Given the description of an element on the screen output the (x, y) to click on. 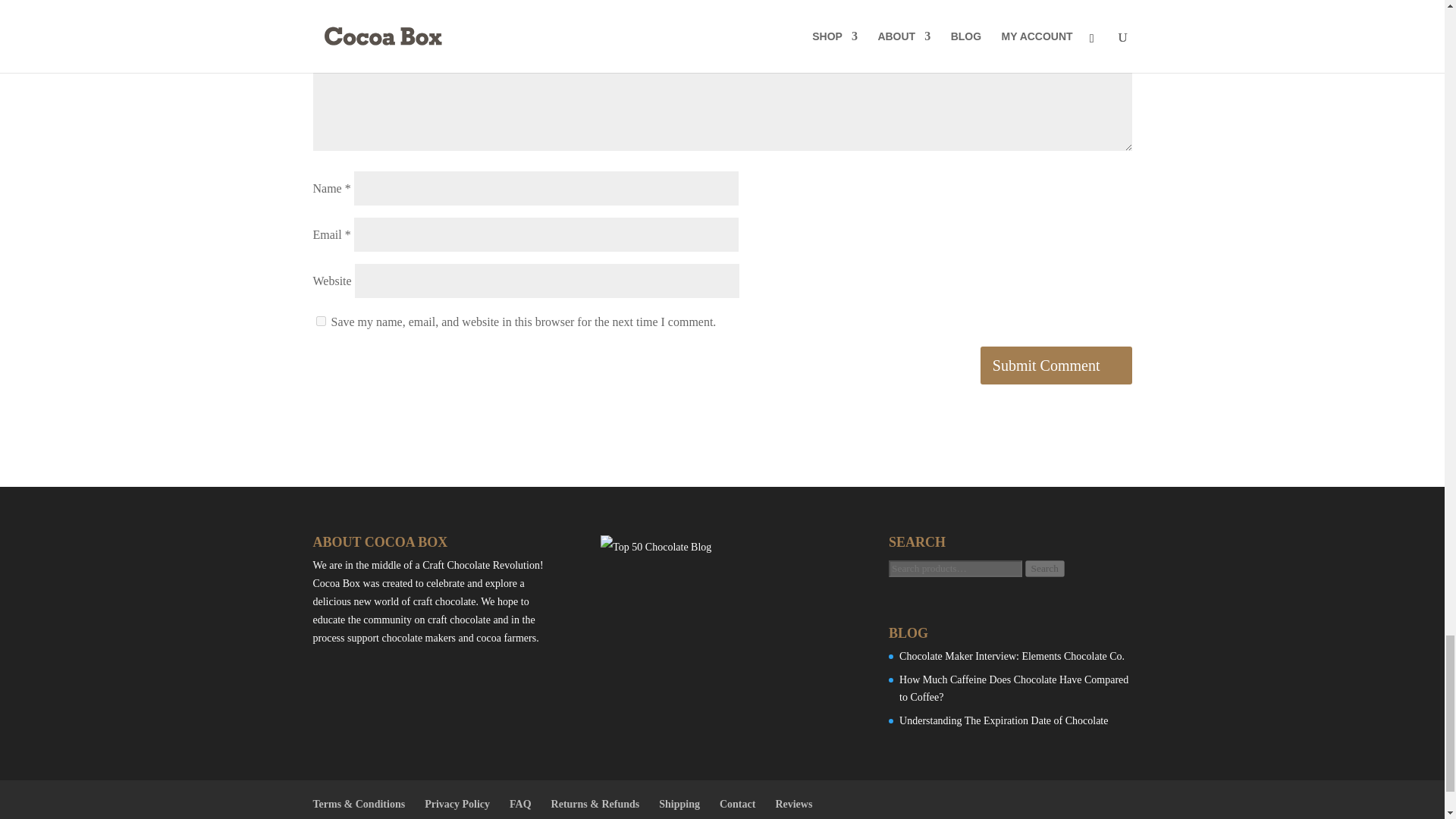
Search (1044, 568)
Submit Comment (1055, 365)
Chocolate Maker Interview: Elements Chocolate Co. (1011, 655)
yes (319, 320)
FAQ (520, 803)
How Much Caffeine Does Chocolate Have Compared to Coffee? (1013, 688)
Privacy Policy (457, 803)
Submit Comment (1055, 365)
Understanding The Expiration Date of Chocolate (1003, 720)
